Given the description of an element on the screen output the (x, y) to click on. 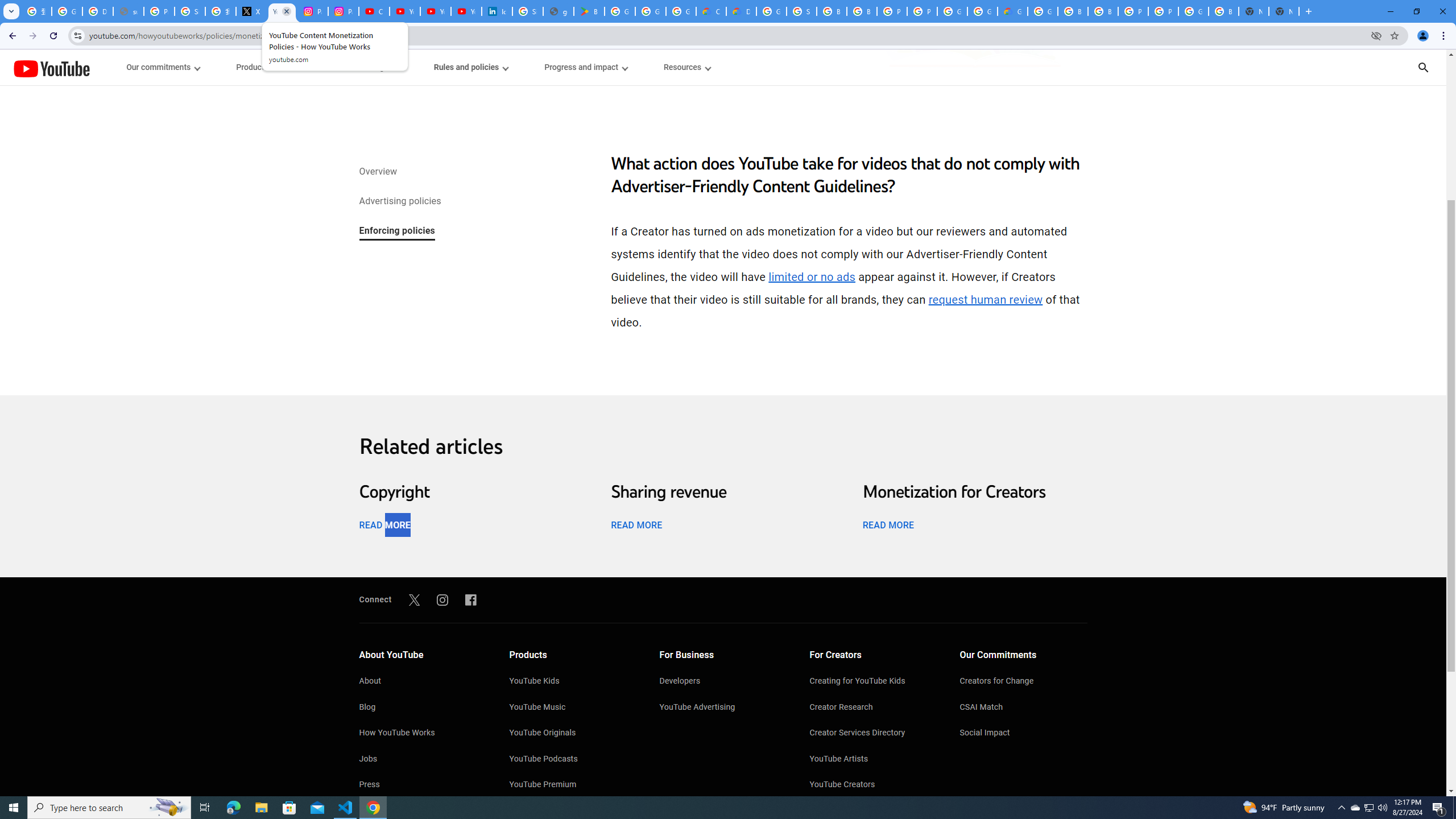
Advertising policies (399, 202)
Google Cloud Estimate Summary (1012, 11)
Creator Research (873, 708)
Google Cloud Platform (1042, 11)
Google Workspace - Specific Terms (681, 11)
Google Cloud Platform (1193, 11)
Play (723, 469)
Facebook (470, 599)
Sign in - Google Accounts (189, 11)
Product features menupopup (269, 67)
Google Cloud Platform (771, 11)
